Given the description of an element on the screen output the (x, y) to click on. 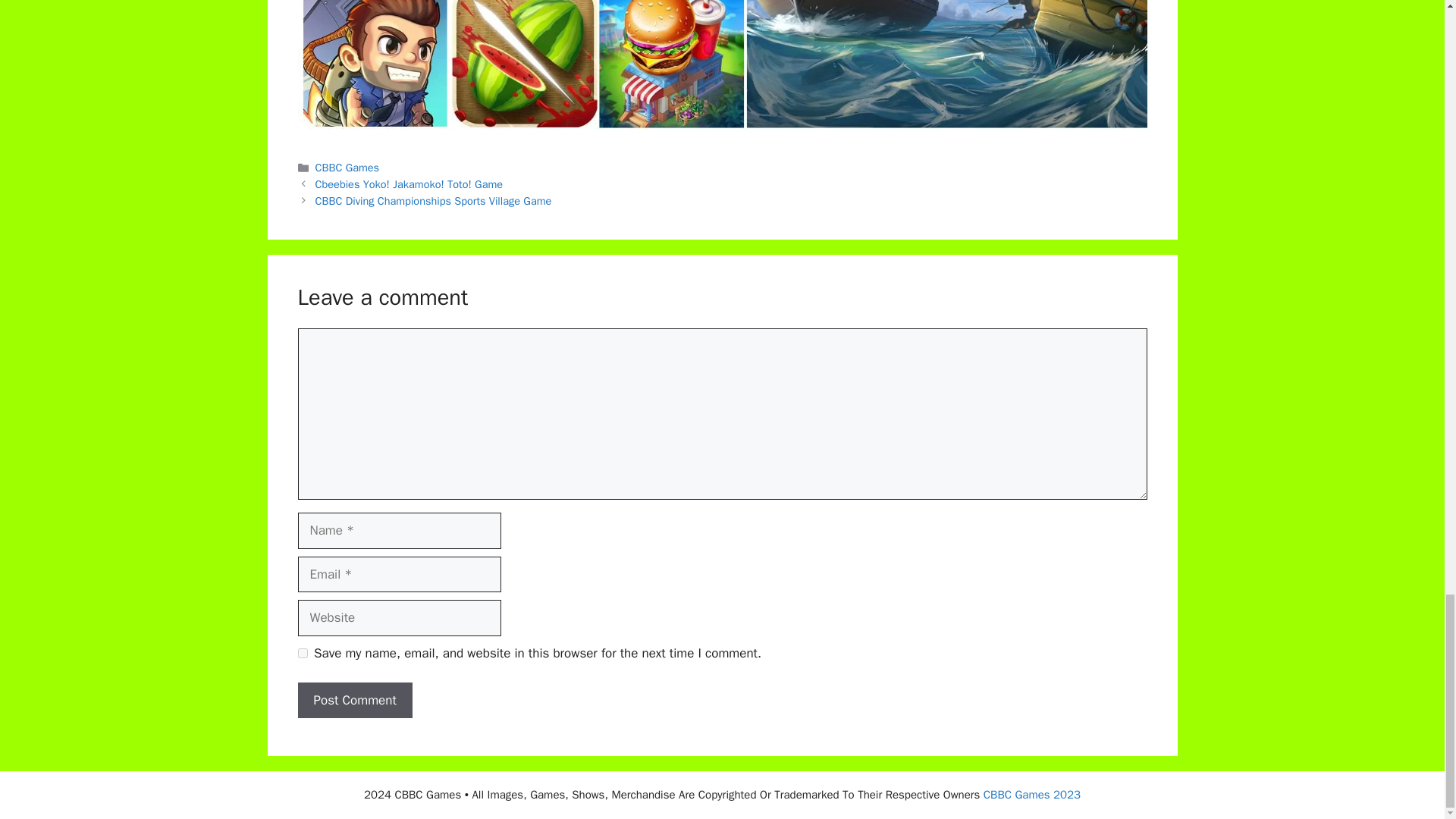
Post Comment (354, 700)
yes (302, 653)
